Given the description of an element on the screen output the (x, y) to click on. 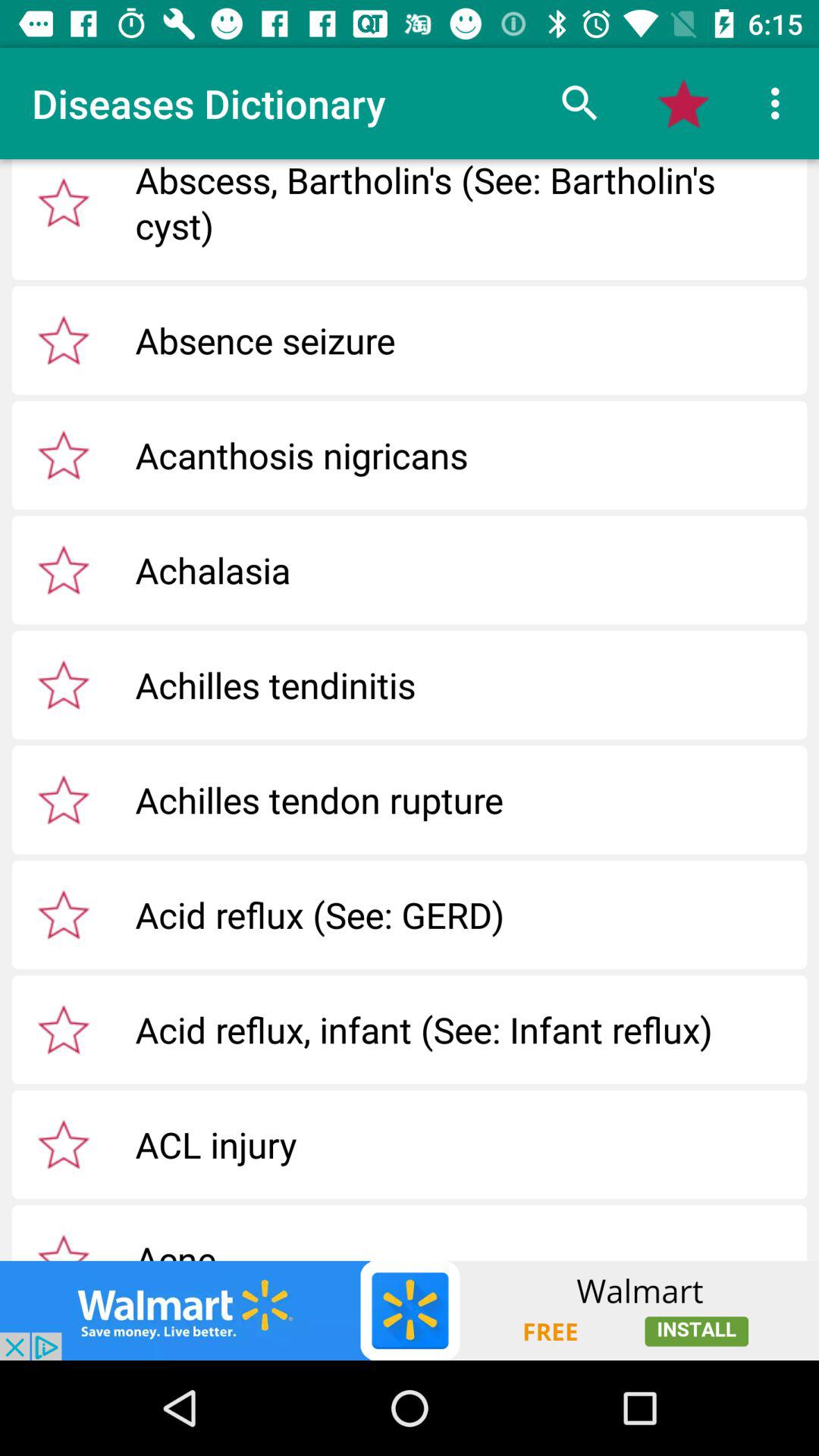
tap for important (63, 1243)
